Given the description of an element on the screen output the (x, y) to click on. 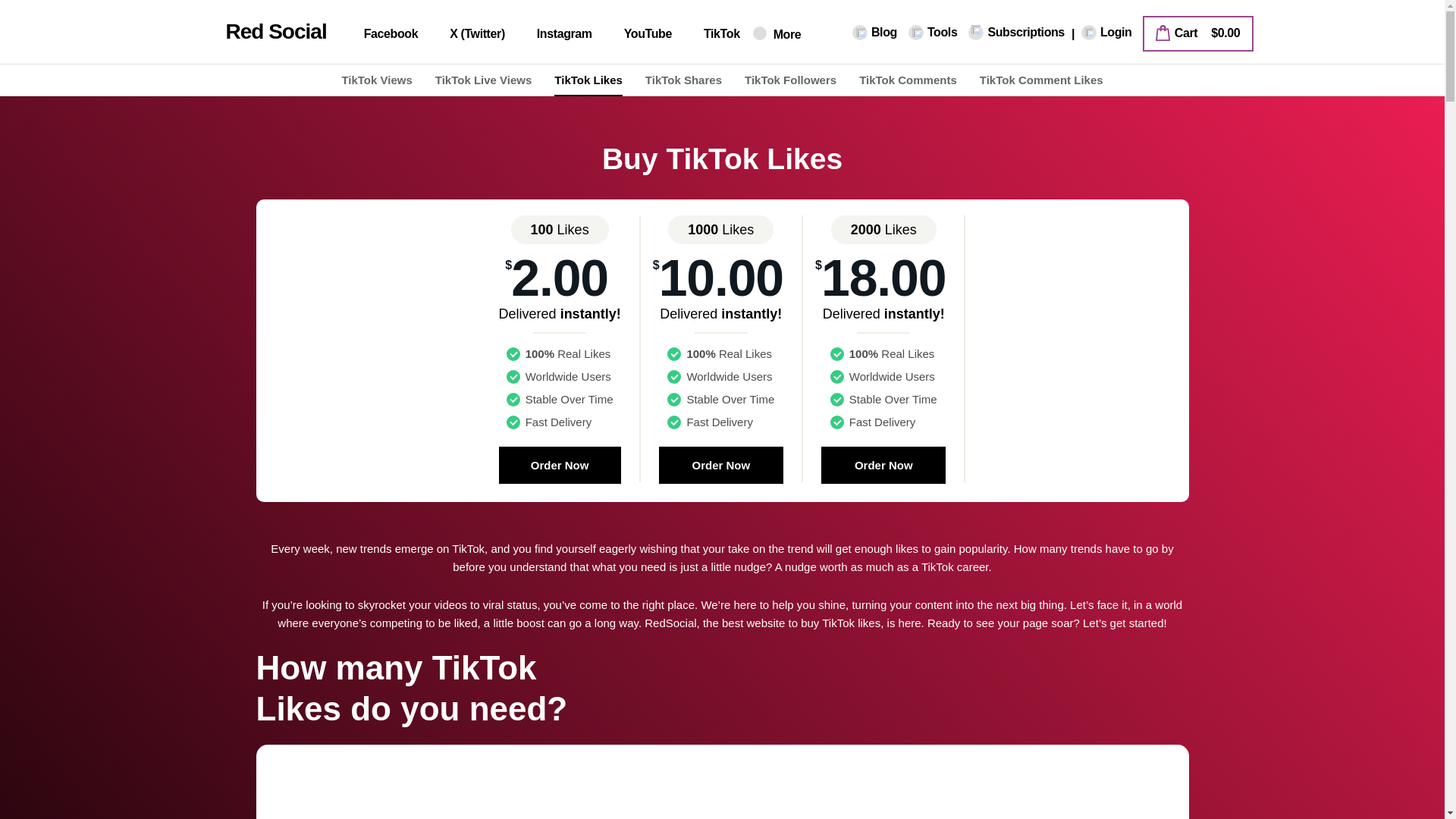
TikTok (711, 33)
YouTube (638, 33)
Facebook (382, 33)
Red Social (258, 31)
Instagram (555, 33)
